Given the description of an element on the screen output the (x, y) to click on. 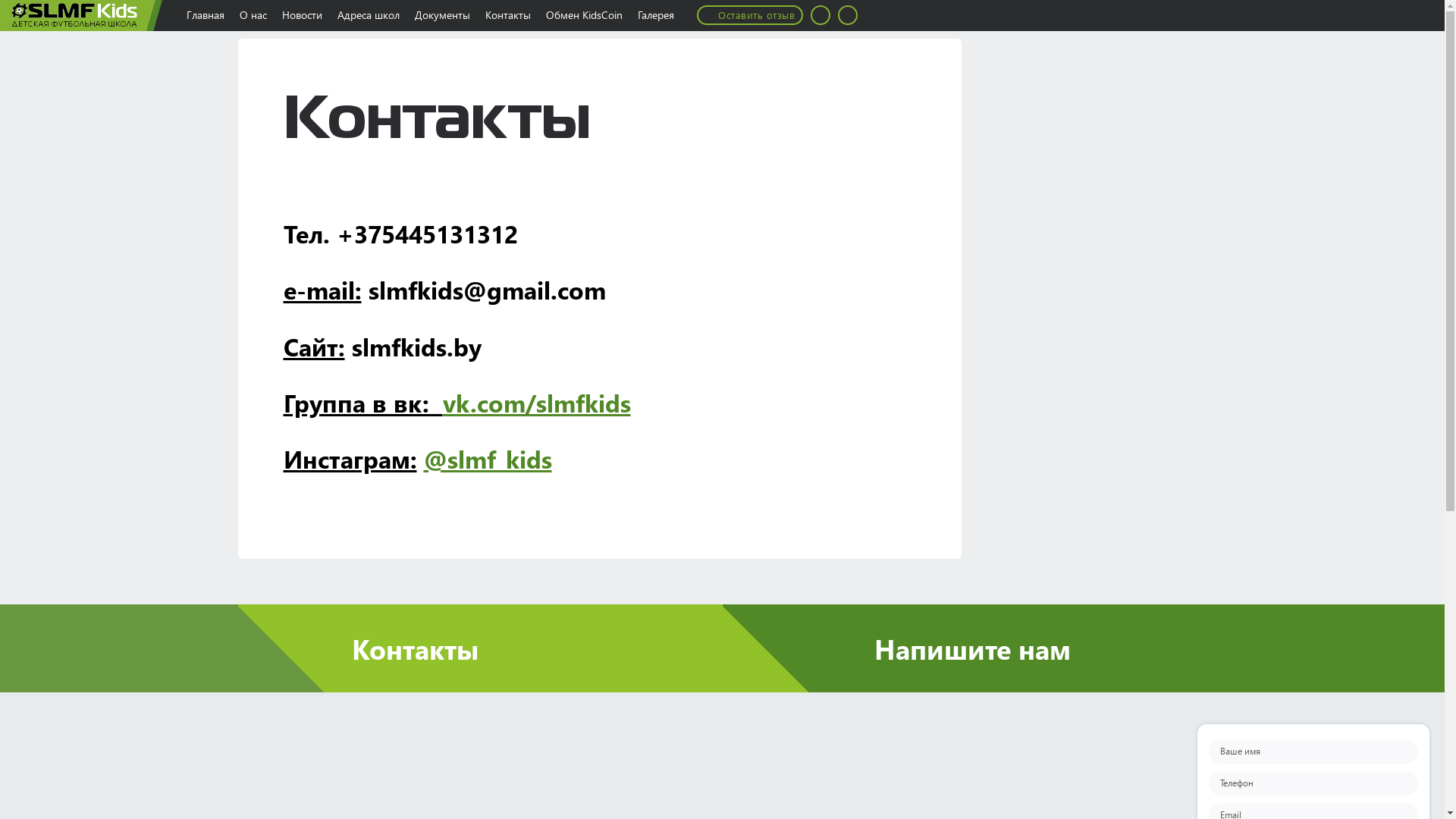
vk.com/slmfkids Element type: text (536, 402)
@slmf_kids Element type: text (487, 458)
